Given the description of an element on the screen output the (x, y) to click on. 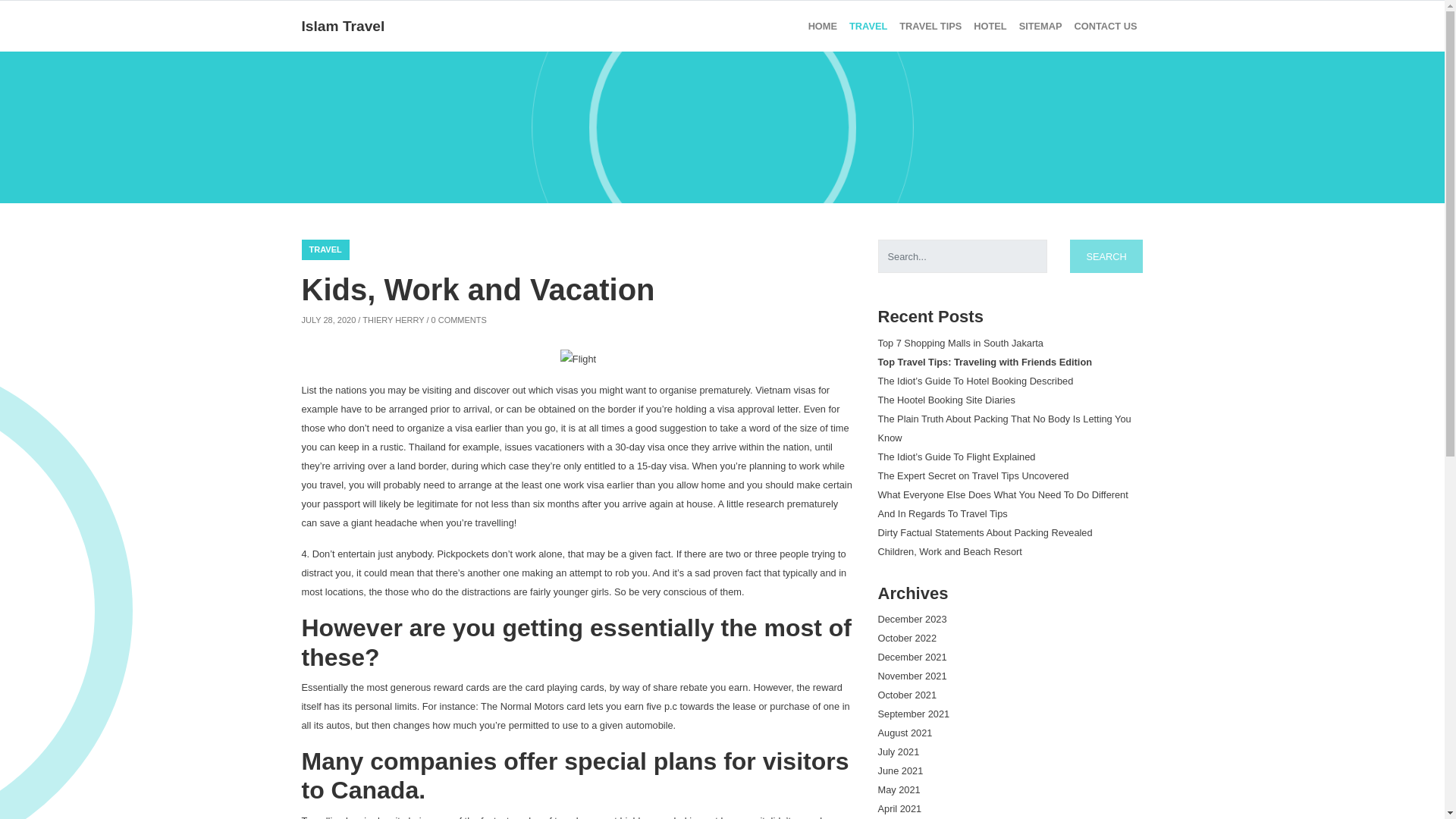
HOME (822, 26)
Search (1106, 255)
TRAVEL (868, 26)
June 2021 (900, 770)
The Hootel Booking Site Diaries (945, 399)
April 2021 (899, 808)
SITEMAP (1040, 26)
Top 7 Shopping Malls in South Jakarta (960, 342)
December 2021 (912, 656)
September 2021 (913, 713)
August 2021 (905, 732)
May 2021 (898, 789)
July 2021 (898, 751)
TRAVEL TIPS (930, 26)
October 2022 (907, 637)
